Given the description of an element on the screen output the (x, y) to click on. 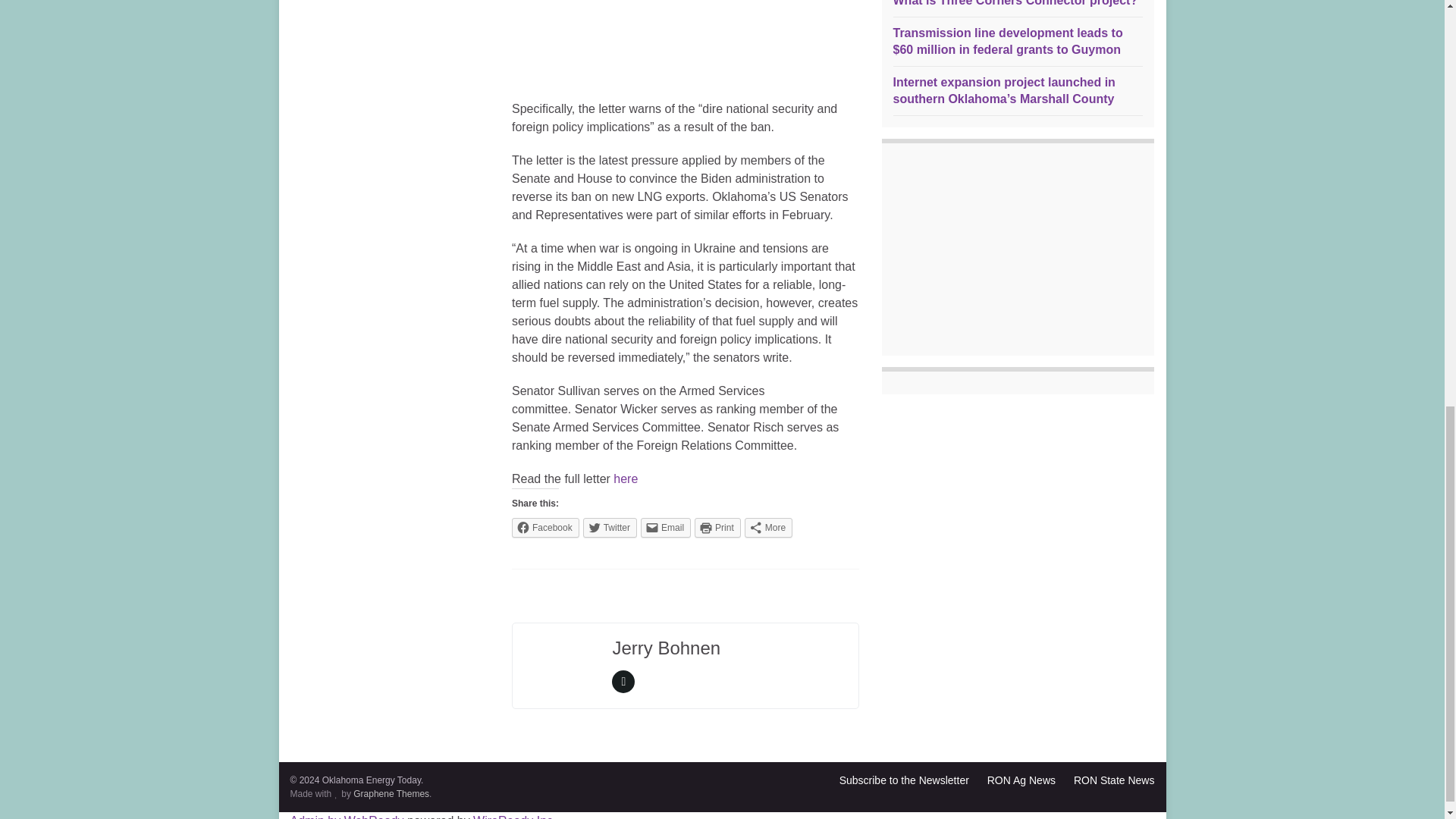
Click to print (717, 527)
here (624, 478)
Click to share on Twitter (610, 527)
Advertisement (685, 42)
Email (665, 527)
Subscribe to the Newsletter (904, 779)
Twitter (610, 527)
Click to share on Facebook (545, 527)
What is Three Corners Connector project? (1015, 3)
Admin by WebReady (346, 816)
RON State News (1114, 779)
Click to email a link to a friend (665, 527)
RON Ag News (1021, 779)
Print (717, 527)
Facebook (545, 527)
